Given the description of an element on the screen output the (x, y) to click on. 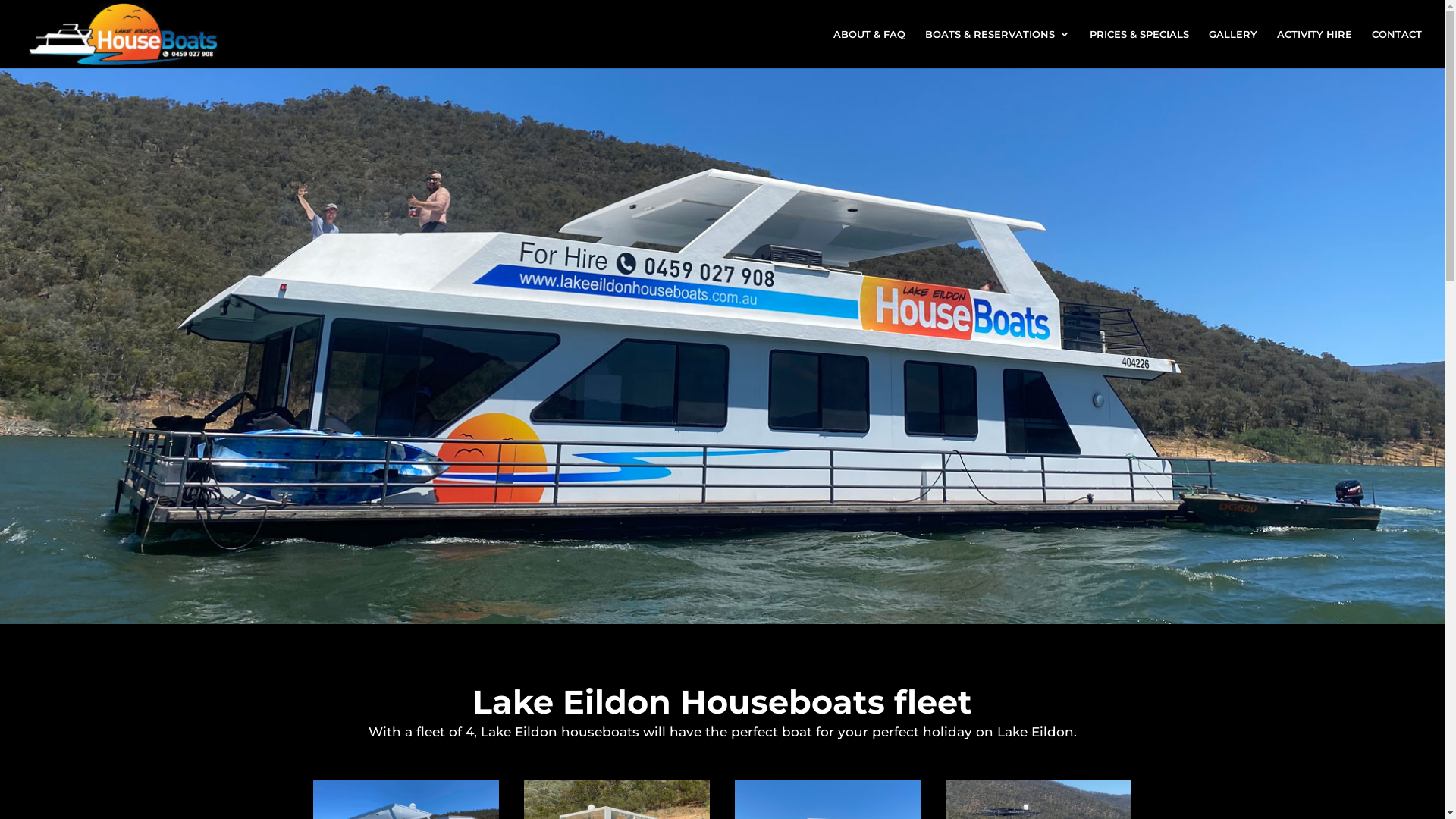
lake eildon houseboat hire Element type: hover (722, 346)
PRICES & SPECIALS Element type: text (1139, 48)
BOATS & RESERVATIONS Element type: text (997, 48)
GALLERY Element type: text (1232, 48)
ABOUT & FAQ Element type: text (869, 48)
CONTACT Element type: text (1396, 48)
ACTIVITY HIRE Element type: text (1314, 48)
